Given the description of an element on the screen output the (x, y) to click on. 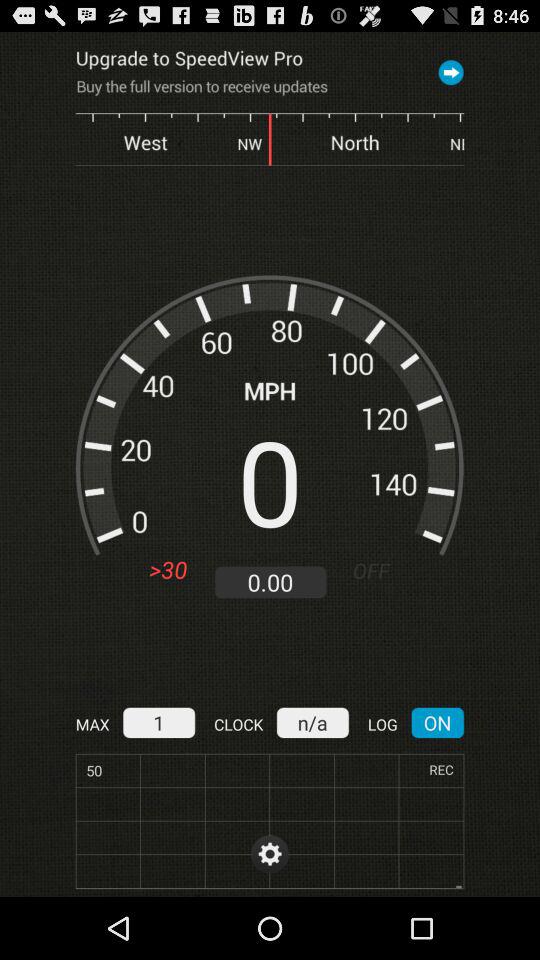
scroll until the 0.00 (270, 582)
